Given the description of an element on the screen output the (x, y) to click on. 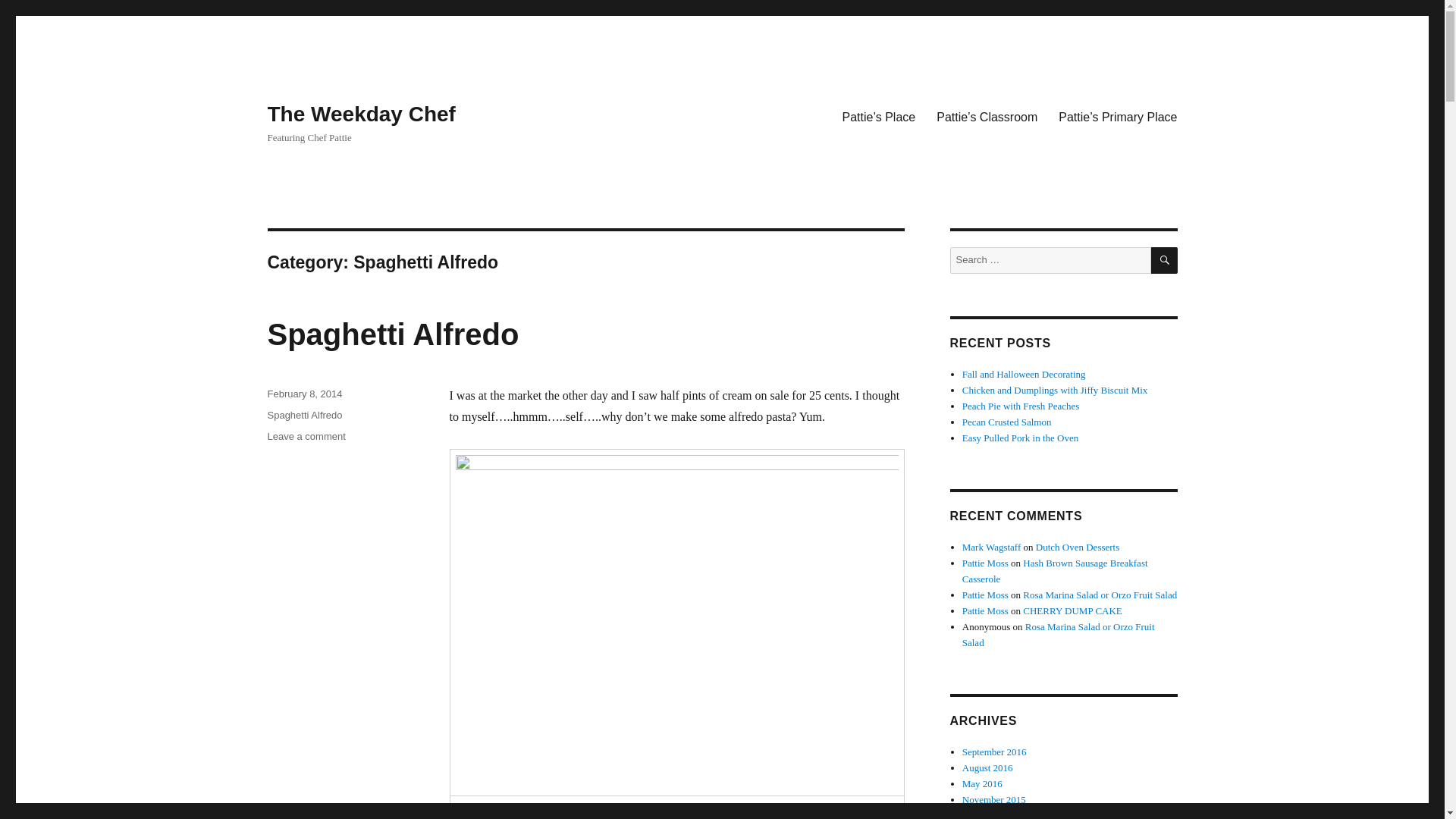
SEARCH (1164, 260)
February 8, 2014 (305, 436)
September 2016 (304, 393)
Spaghetti Alfredo (994, 751)
The Weekday Chef (392, 334)
Spaghetti Alfredo (360, 114)
October 2015 (304, 414)
August 2016 (989, 814)
Easy Pulled Pork in the Oven (987, 767)
